Given the description of an element on the screen output the (x, y) to click on. 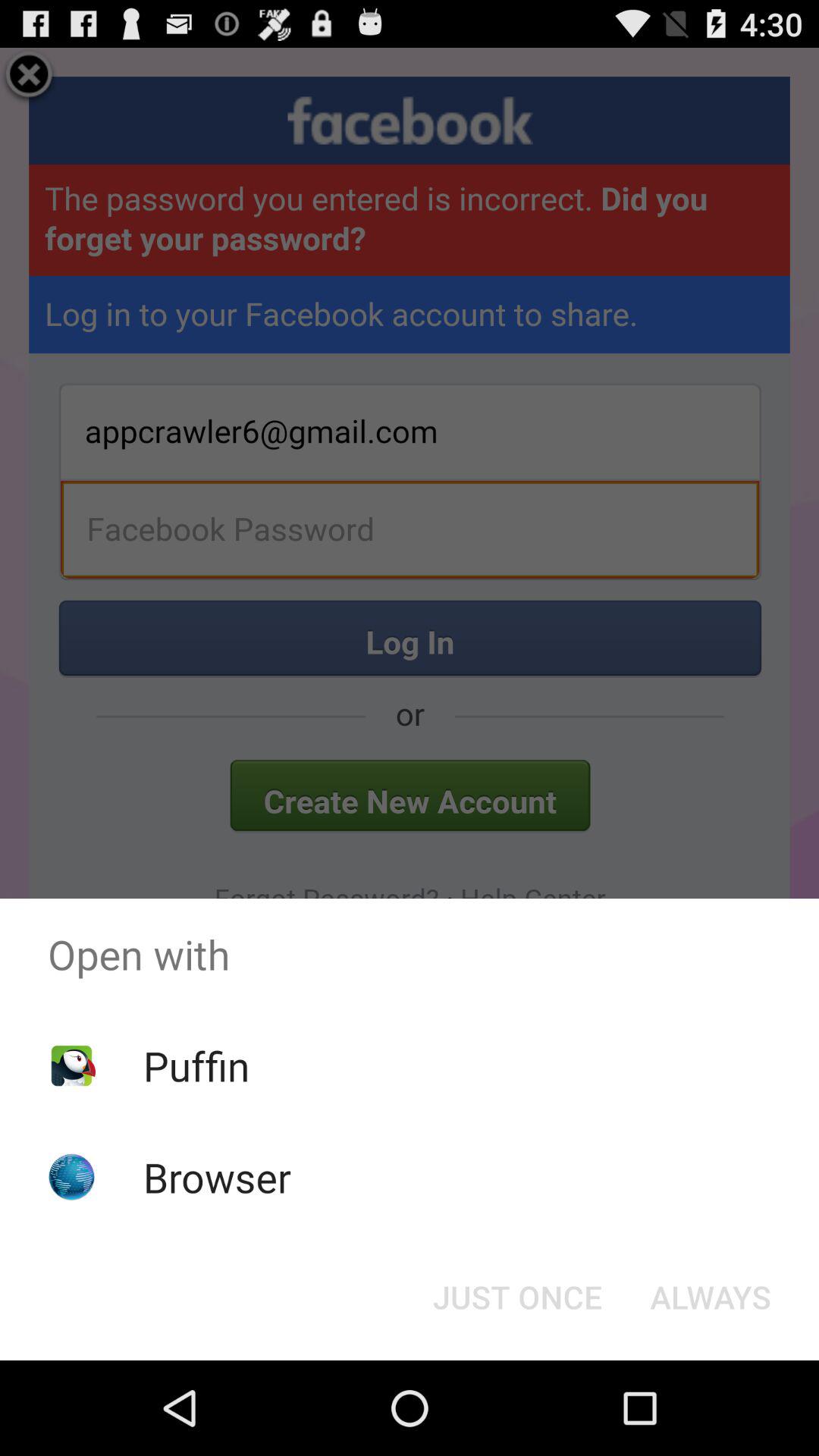
open the item next to the always (517, 1296)
